Given the description of an element on the screen output the (x, y) to click on. 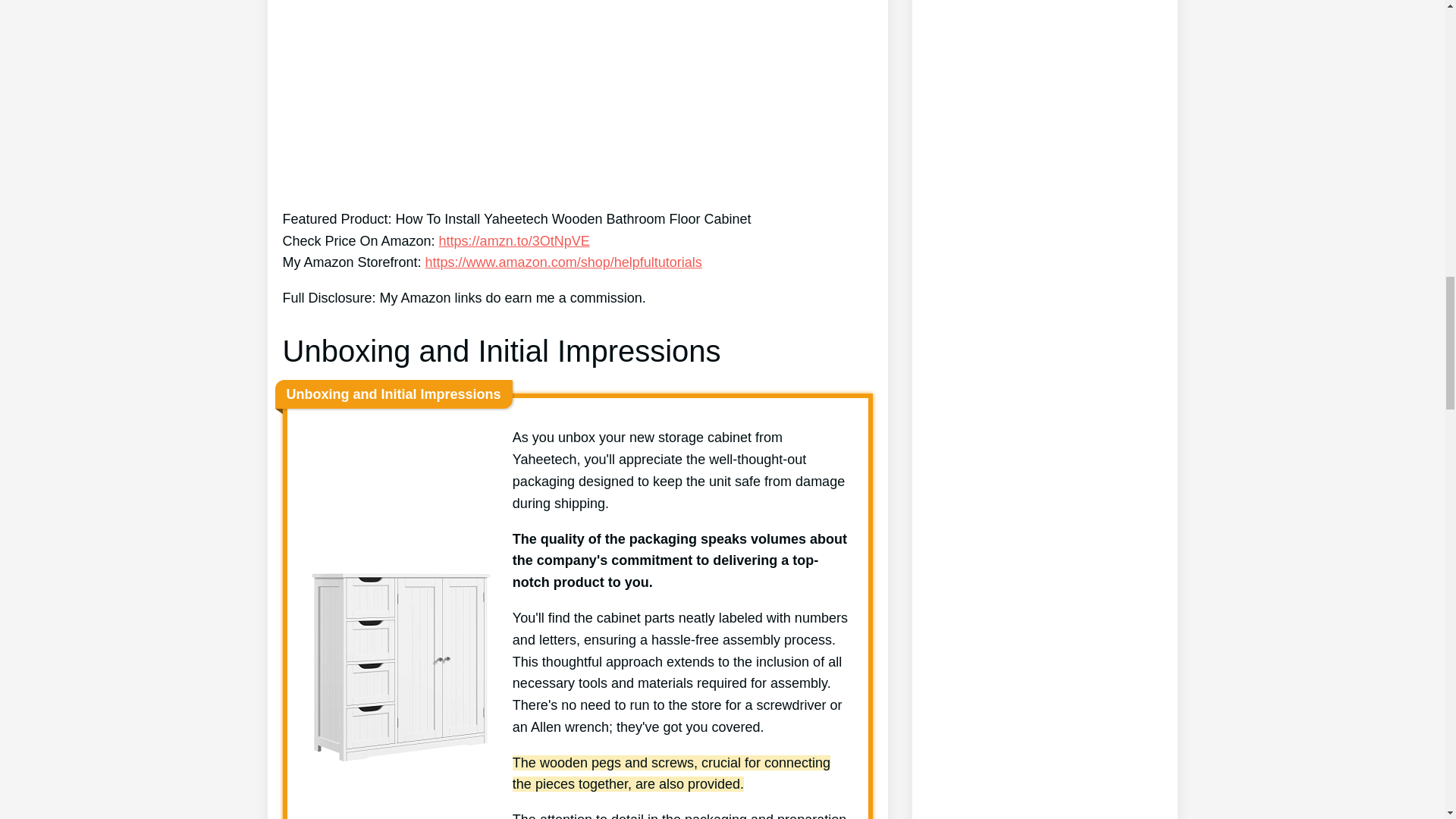
How To Install Yaheetech Wooden Bathroom Floor Cabinet (577, 97)
